Given the description of an element on the screen output the (x, y) to click on. 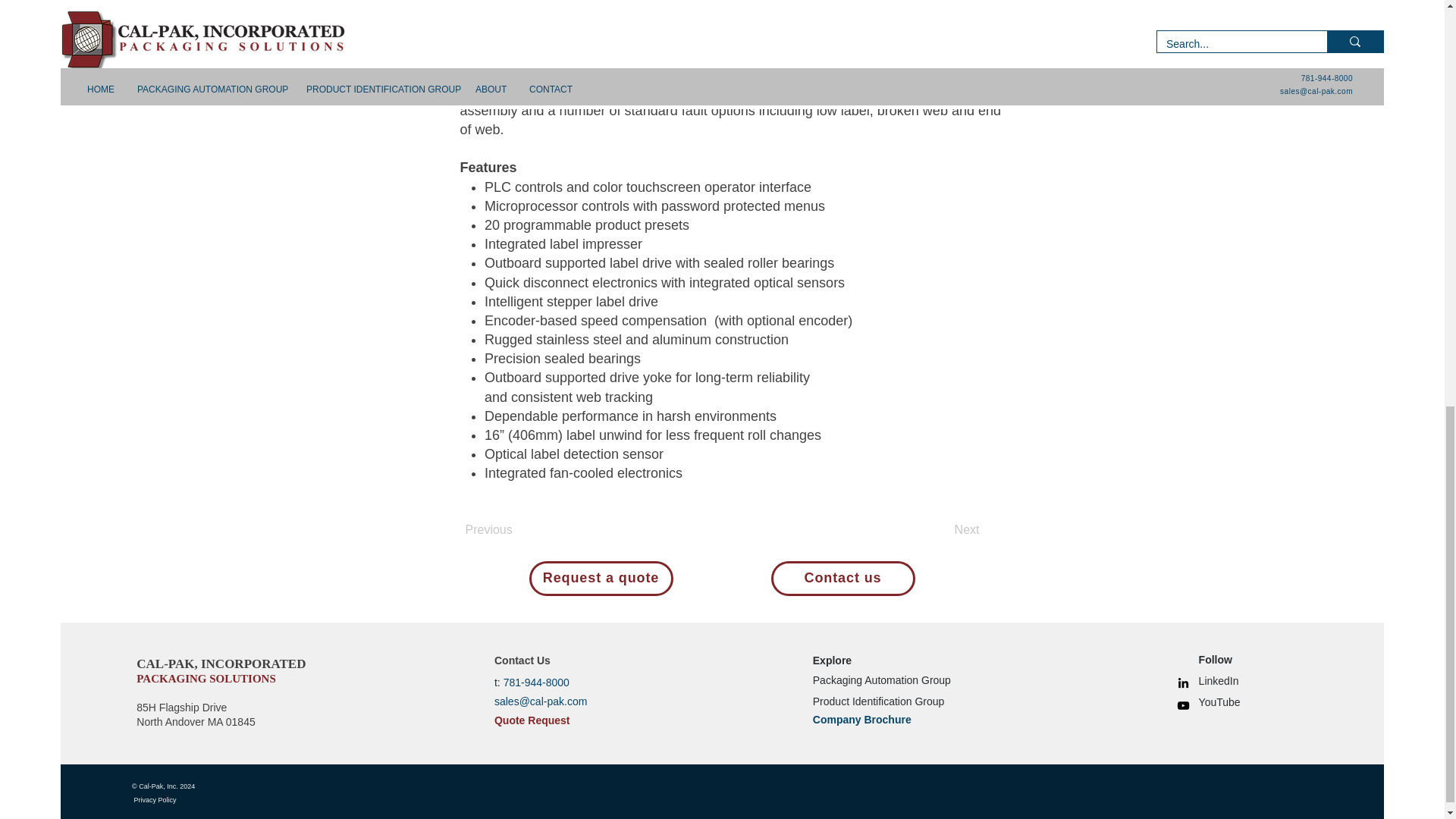
Next (941, 530)
Request a quote (600, 578)
CAL-PAK, INCORPORATED (220, 663)
85H Flagship Drive (181, 707)
PACKAGING SOLUTIONS (206, 677)
Previous (515, 530)
Quote Request (532, 720)
Product Identification Group (878, 699)
Contact us (842, 578)
Packaging Automation Group (881, 680)
Contact Us (522, 660)
Company Brochure (861, 719)
781-944-8000 (536, 682)
North Andover MA 01845 (195, 721)
